Given the description of an element on the screen output the (x, y) to click on. 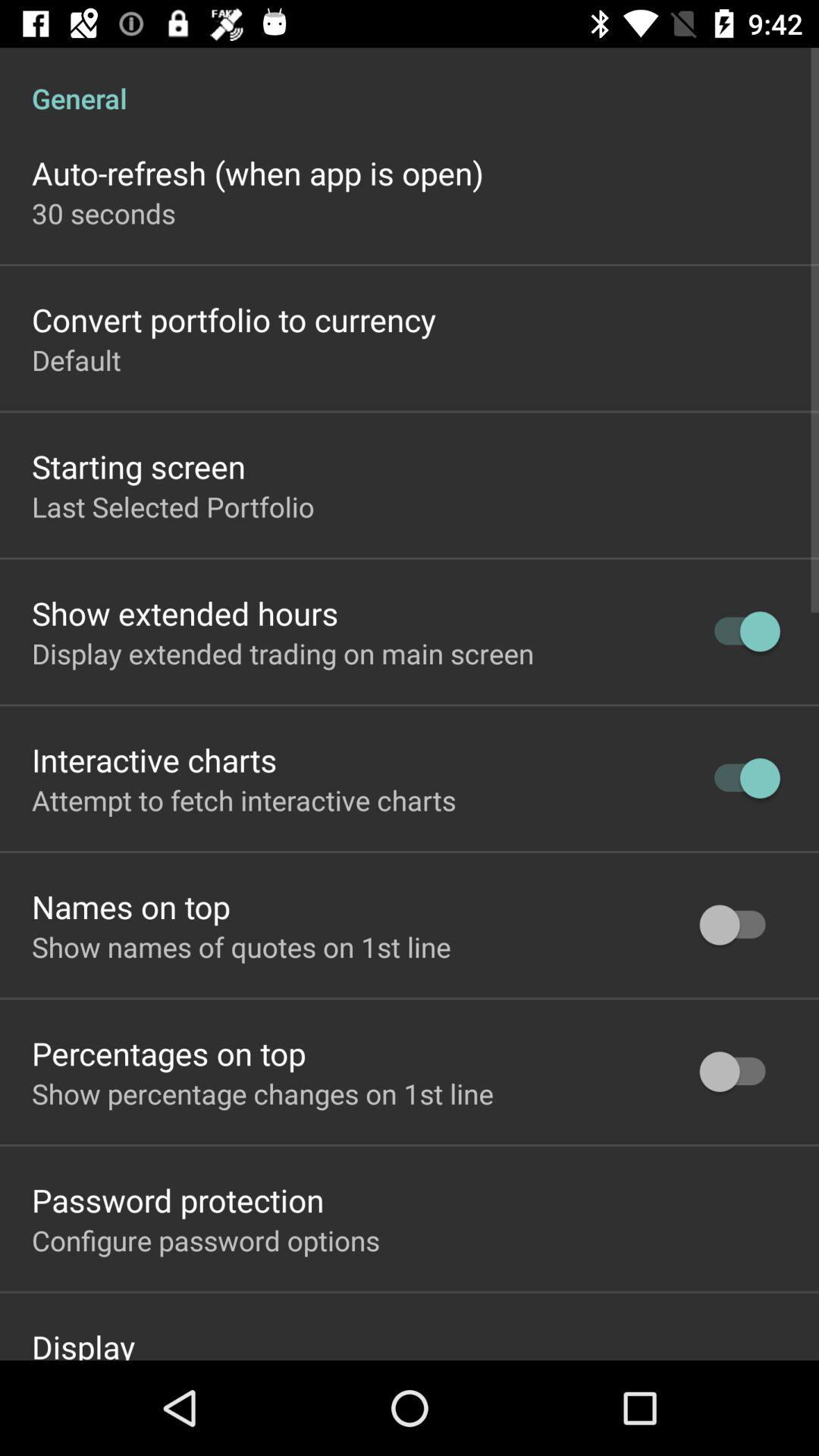
turn on starting screen item (138, 465)
